Given the description of an element on the screen output the (x, y) to click on. 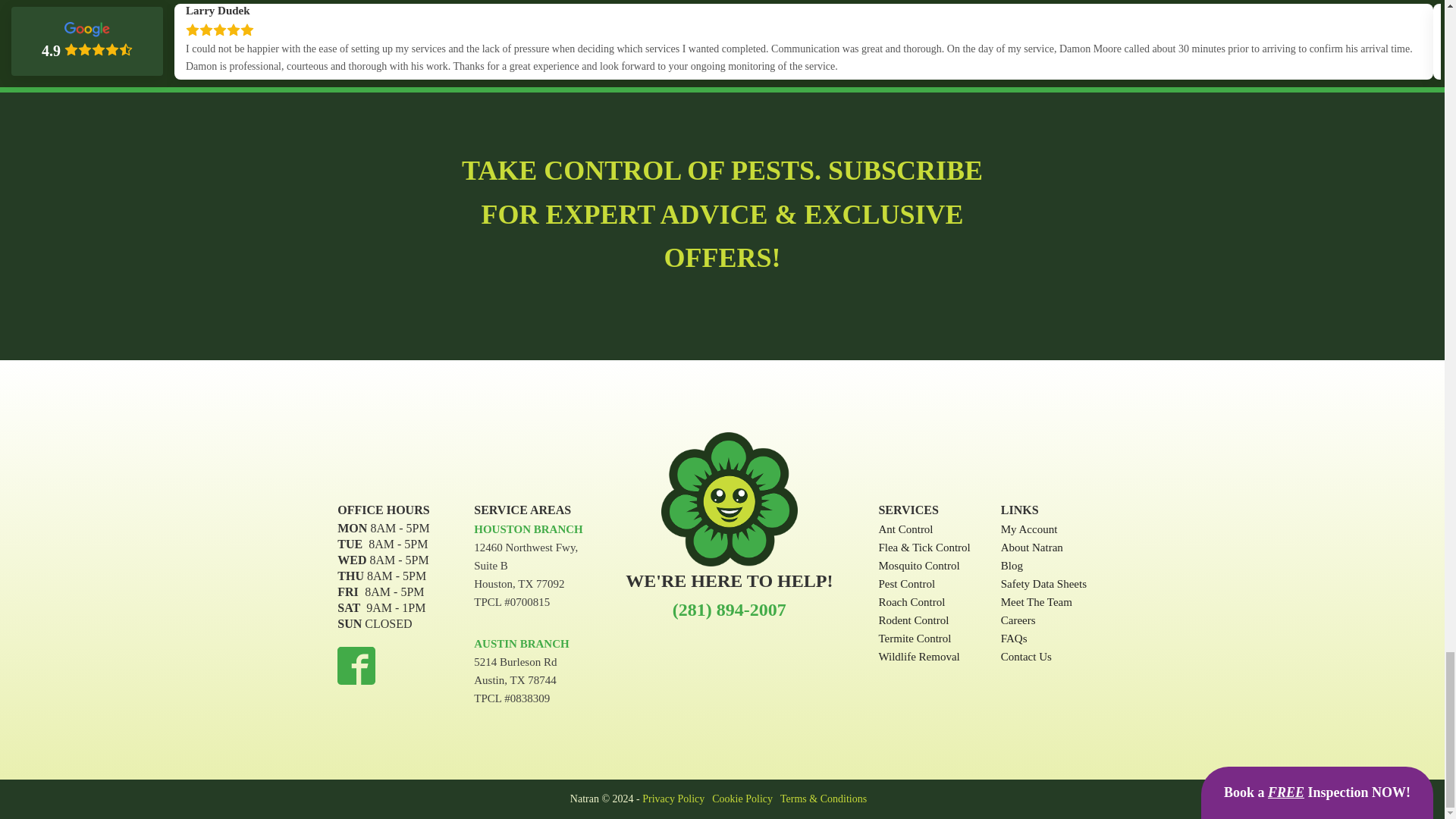
Termite Control (923, 638)
Rodent Control (923, 619)
Book My Inspection (1049, 24)
Ant Control (923, 529)
Mosquito Control (923, 565)
Roach Control (923, 601)
AUSTIN BRANCH (521, 644)
Pest Control (923, 583)
HOUSTON BRANCH (528, 529)
